Given the description of an element on the screen output the (x, y) to click on. 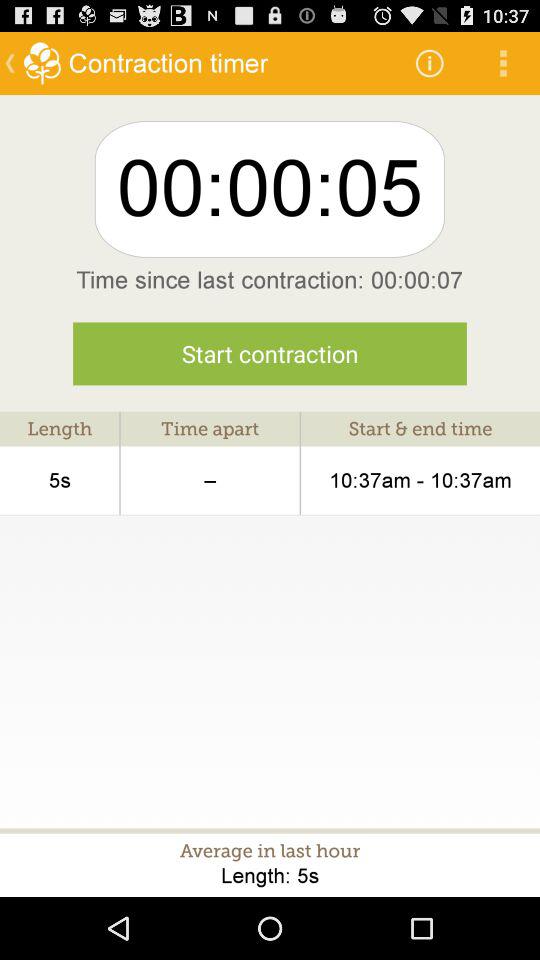
press the item next to the start & end time (209, 480)
